Given the description of an element on the screen output the (x, y) to click on. 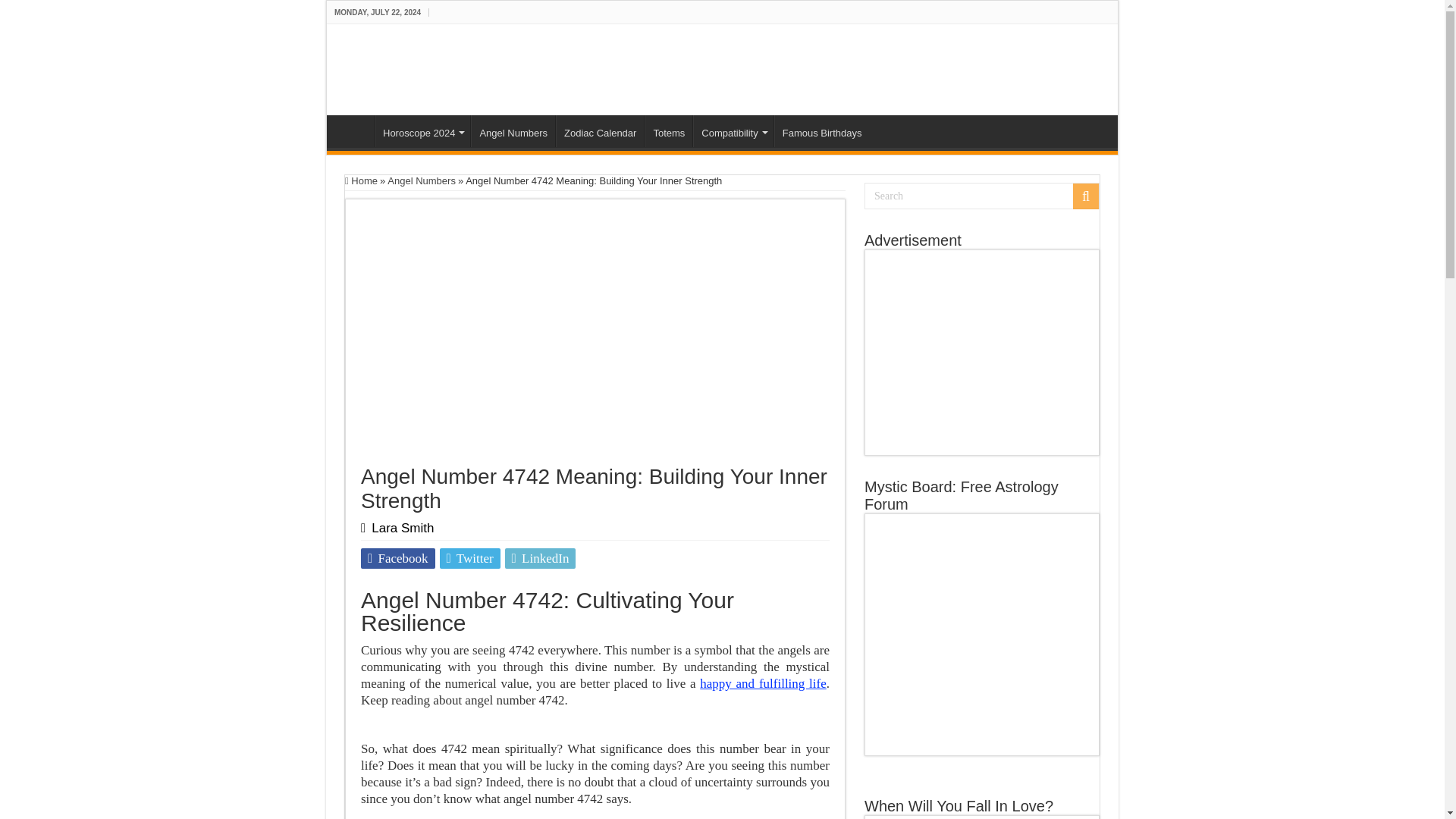
What Are Animal Totems (669, 131)
Sun Signs (354, 131)
Angel Numbers (421, 180)
Home (354, 131)
Zodiac Calendar (599, 131)
happy and fulfilling life (762, 683)
Home (361, 180)
Search (981, 195)
Facebook (398, 557)
Zodiac Calendar (599, 131)
Angel Numbers (512, 131)
Twitter (469, 557)
Compatibility (733, 131)
Sun Signs (405, 66)
LinkedIn (540, 557)
